Given the description of an element on the screen output the (x, y) to click on. 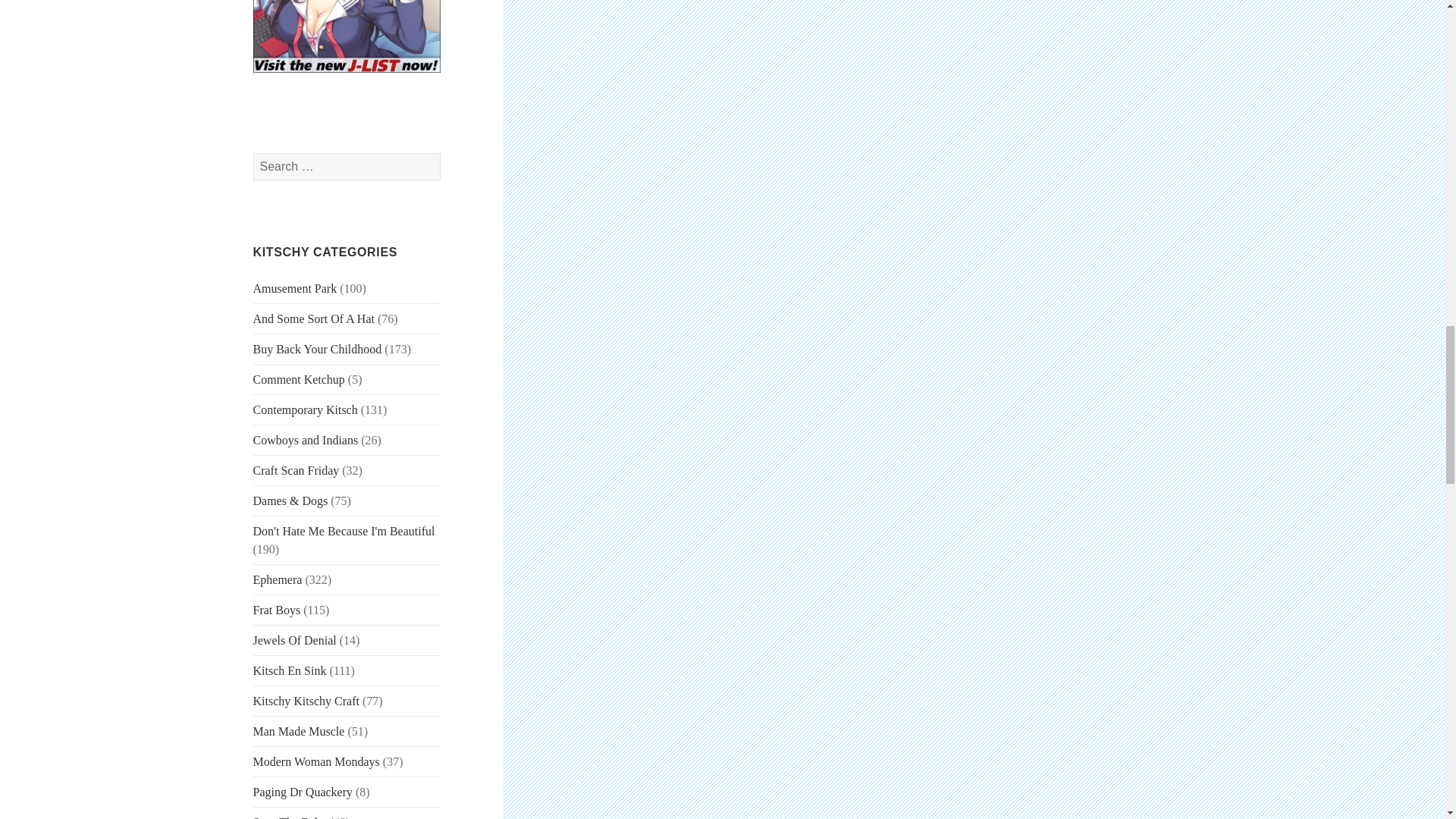
Amusement Park (295, 287)
Comment Ketchup (299, 379)
Don't Hate Me Because I'm Beautiful (344, 530)
Contemporary Kitsch (305, 409)
And Some Sort Of A Hat (313, 318)
Buy Back Your Childhood (317, 349)
Man Made Muscle (299, 730)
Frat Boys (277, 609)
Save The Baby (289, 817)
Craft Scan Friday (296, 470)
Paging Dr Quackery (303, 791)
Cowboys and Indians (305, 440)
Kitschy Kitschy Craft (306, 700)
